Given the description of an element on the screen output the (x, y) to click on. 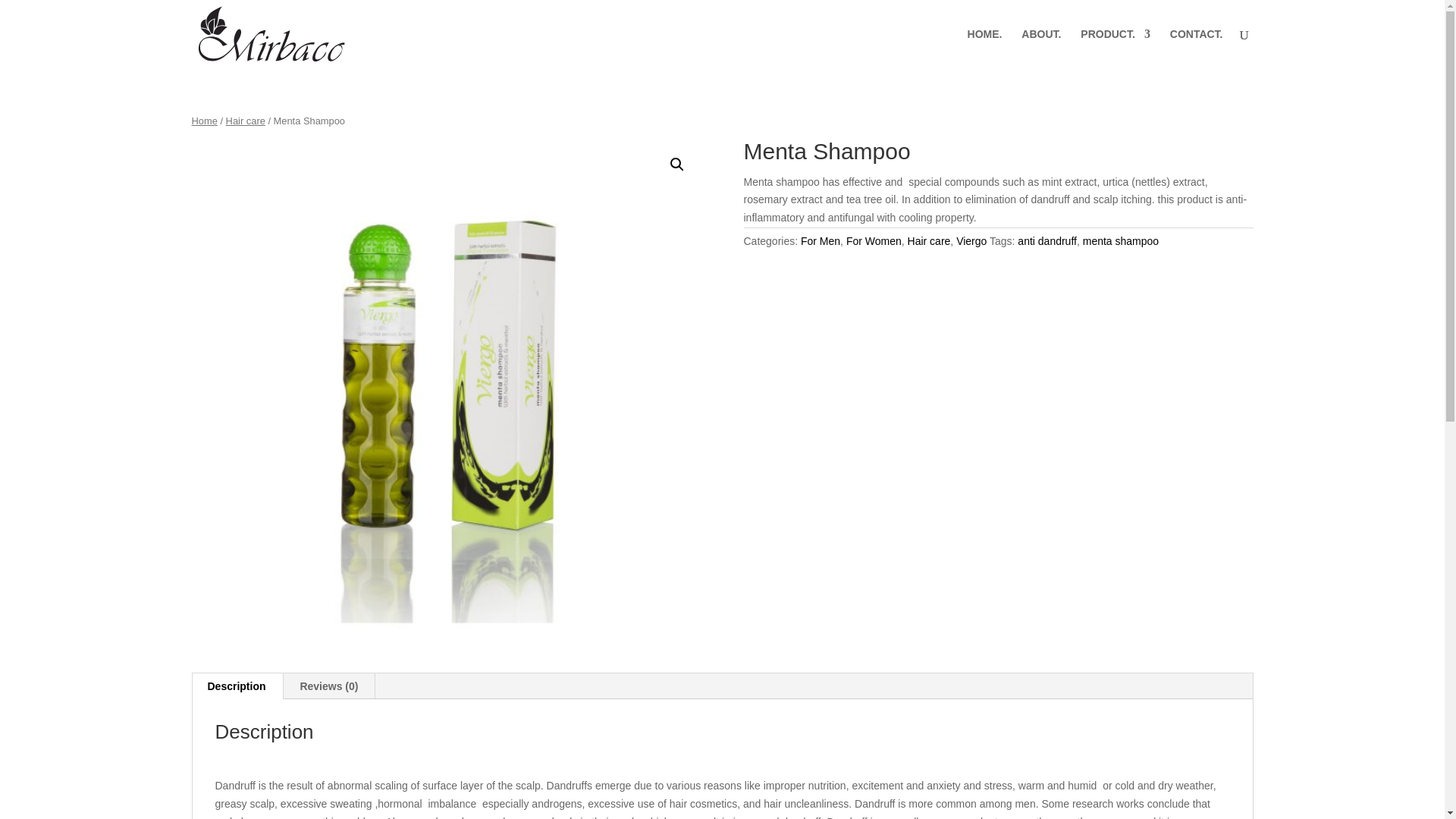
Hair care (928, 241)
menta shampoo (1120, 241)
Viergo (971, 241)
CONTACT. (1196, 47)
anti dandruff (1047, 241)
PRODUCT. (1115, 47)
Home (203, 120)
For Men (820, 241)
Hair care (244, 120)
Description (236, 686)
For Women (873, 241)
ABOUT. (1041, 47)
